Given the description of an element on the screen output the (x, y) to click on. 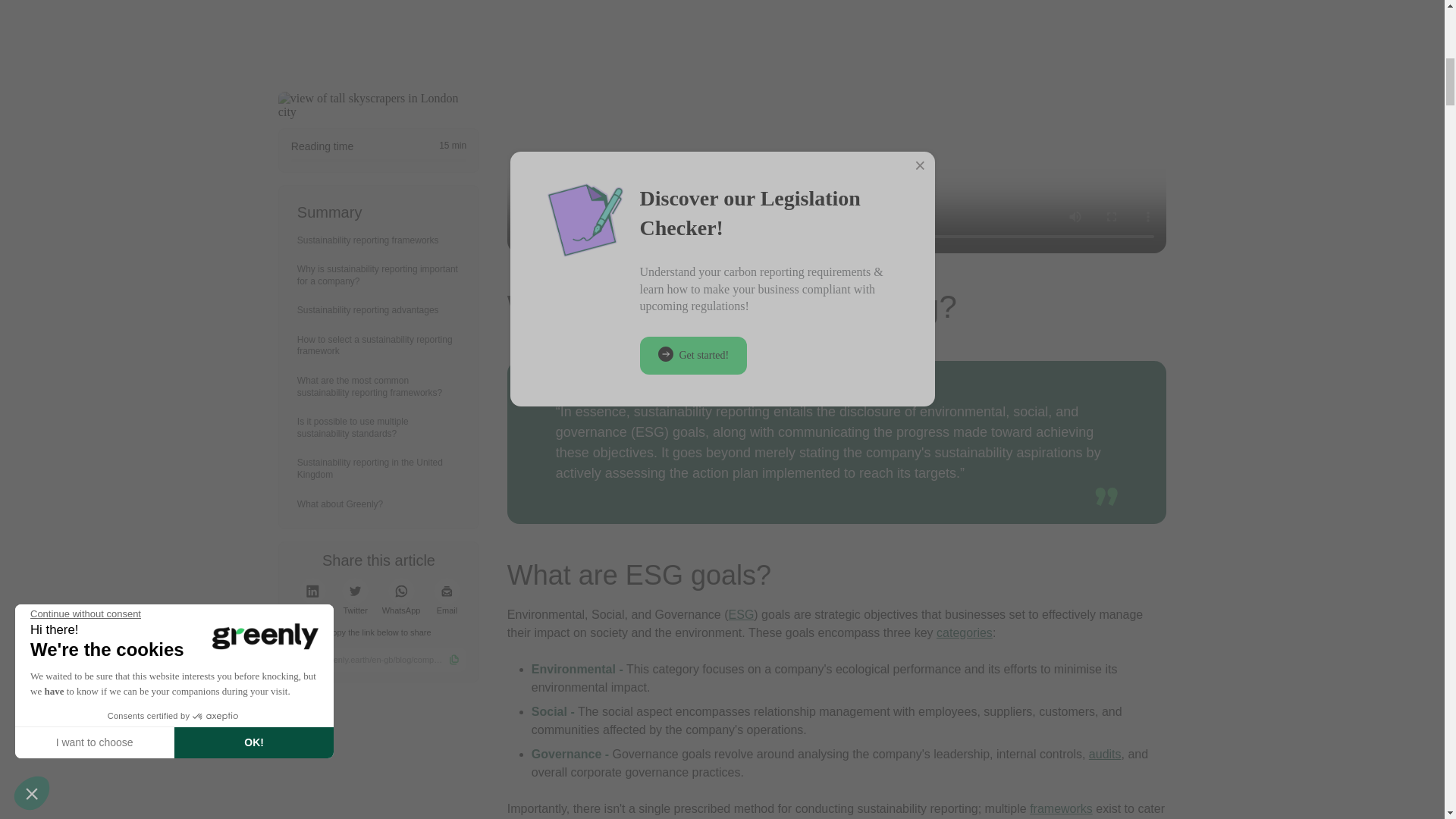
LinkedIn (313, 16)
